Given the description of an element on the screen output the (x, y) to click on. 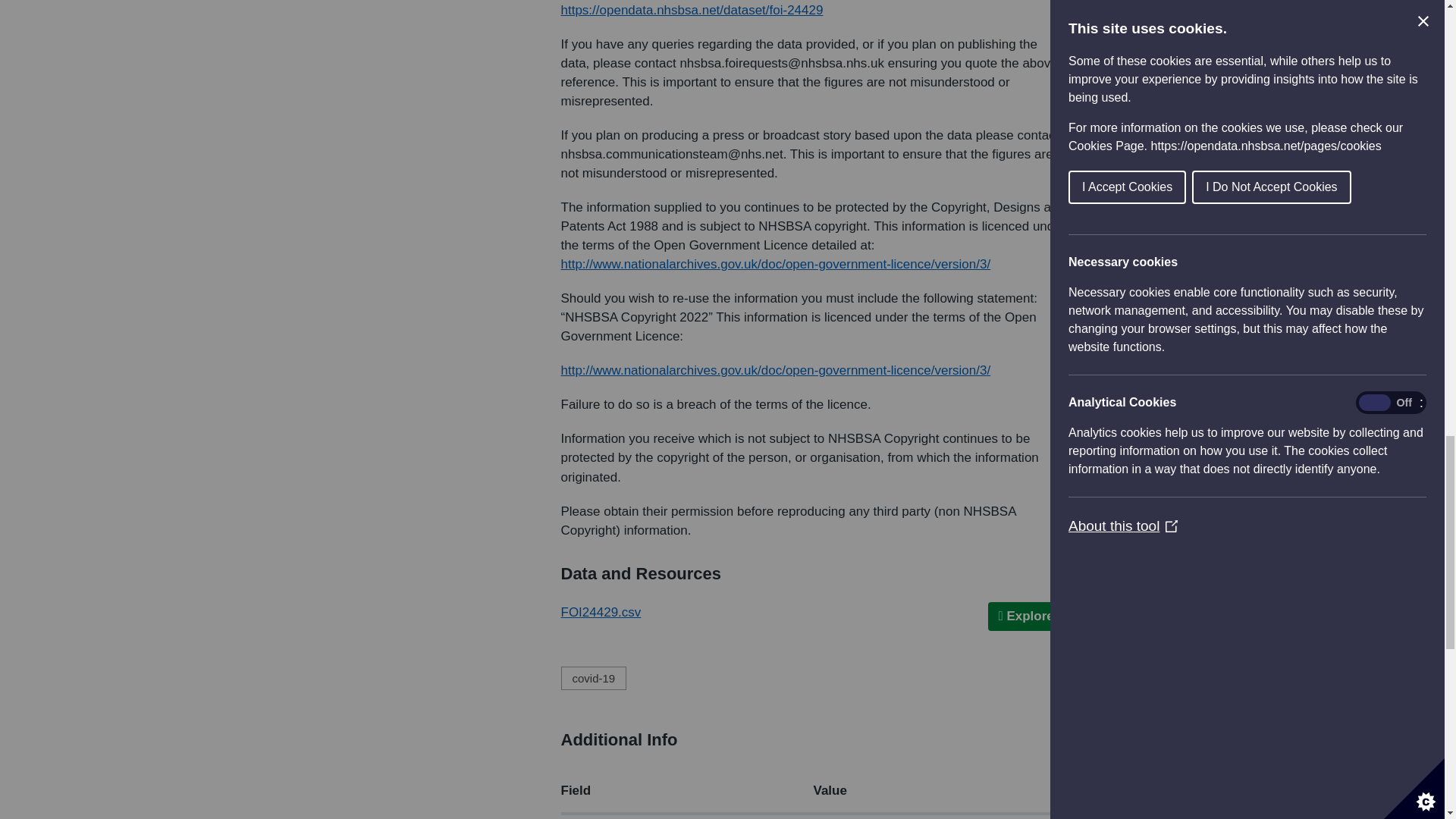
FOI24429.csv (601, 612)
Explore (1030, 615)
